Given the description of an element on the screen output the (x, y) to click on. 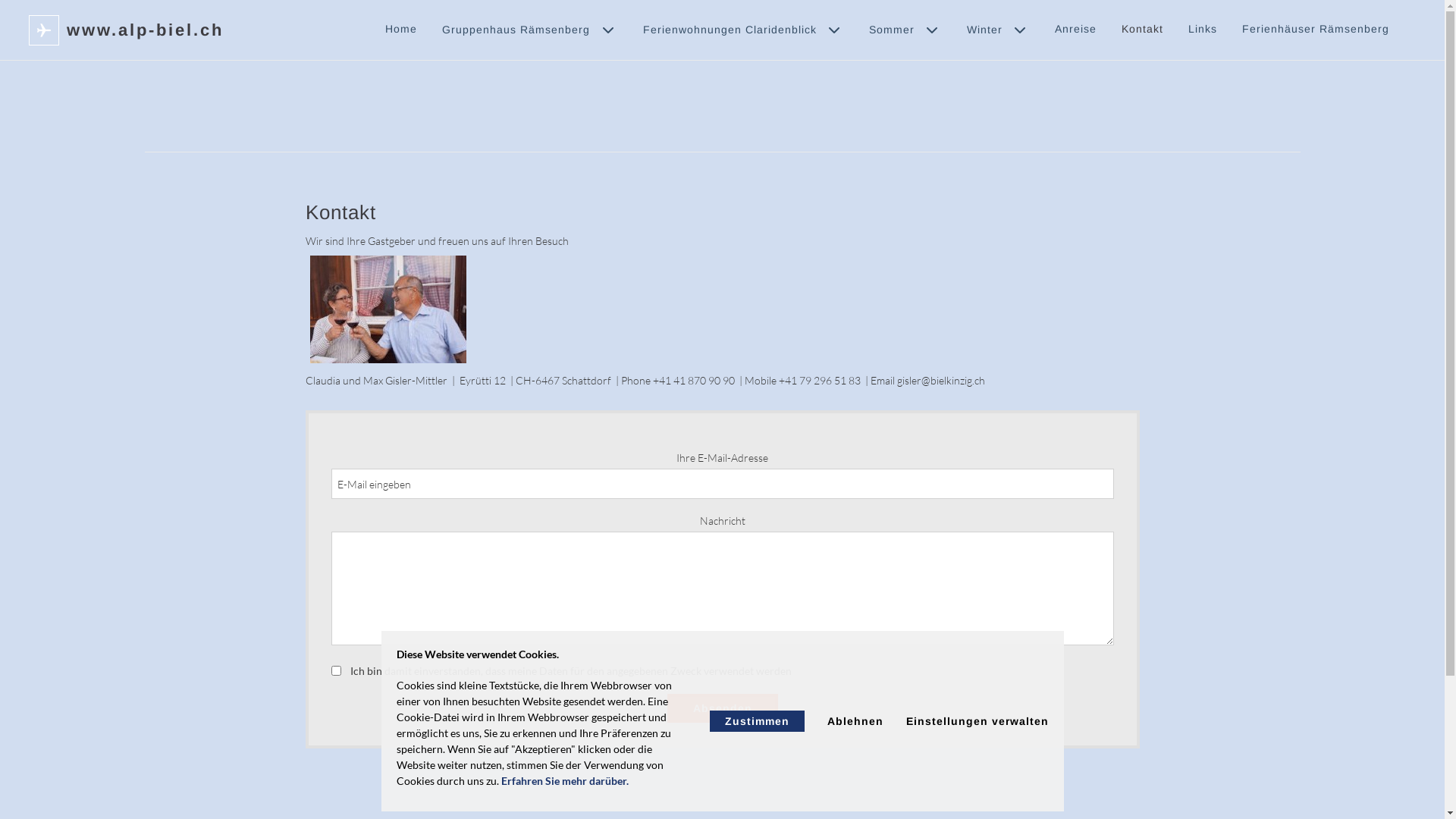
www.alp-biel.ch Element type: text (144, 28)
Anreise Element type: text (1075, 28)
Links Element type: text (1202, 28)
Kontakt Element type: text (1142, 28)
Home Element type: text (400, 28)
Zustimmen Element type: text (756, 720)
Einstellungen verwalten Element type: text (976, 720)
Absenden Element type: text (722, 707)
www.alp-biel.ch Element type: hover (43, 30)
Ablehnen Element type: text (854, 720)
